Given the description of an element on the screen output the (x, y) to click on. 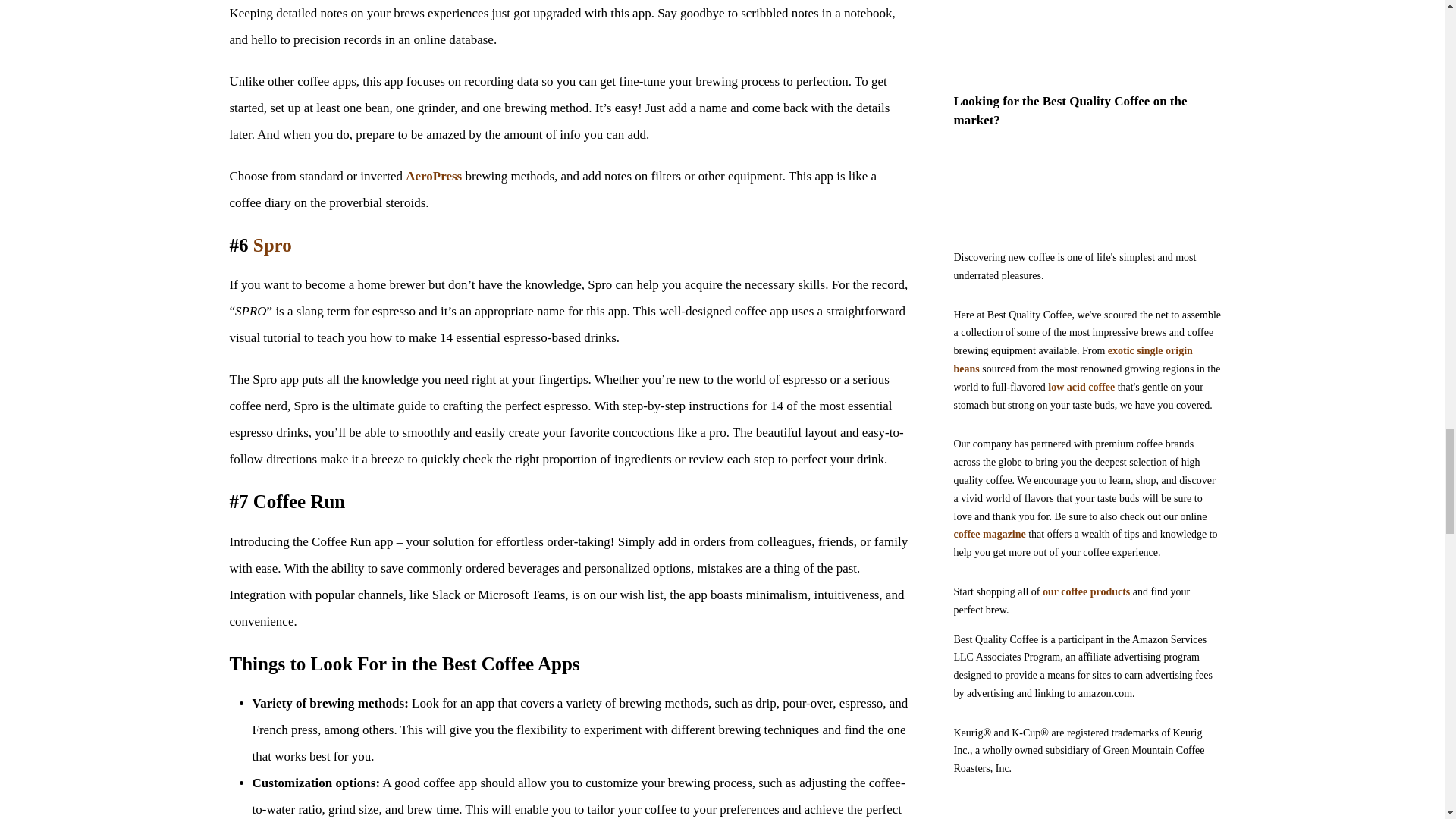
Spirit Animal Coffee (1087, 30)
